Given the description of an element on the screen output the (x, y) to click on. 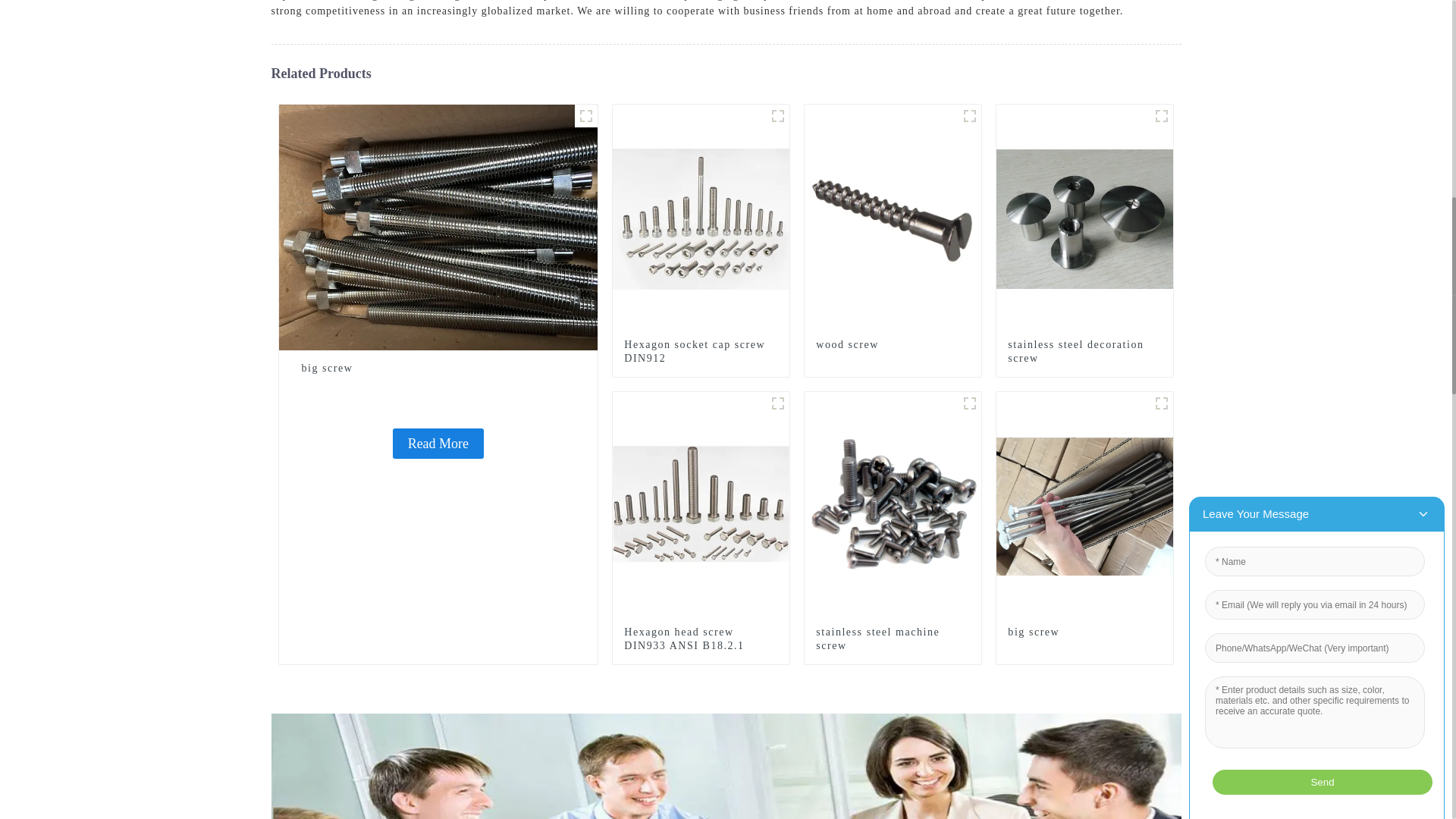
stainless steel decoration screw (1084, 351)
Hexagon socket cap screw DIN912   (700, 217)
stainless steel decoration screw (1084, 217)
big screw 3a (585, 115)
big screw (438, 443)
Hexagon head screw DIN933 ANSI B18.2.1 (700, 505)
wood screw (892, 345)
big screw (438, 225)
6-2-DIN912 ANSI B18.3  M3-M20 1-4 --3-4 (778, 115)
decoration screw (1161, 115)
wood screw (893, 217)
Hexagon socket cap screw DIN912   (700, 351)
chrome-plated-no6x1-wood-screw-10-pack-1479992949-l (969, 115)
big screw (438, 368)
6-1-DIN933 ANSI B18.2.1 M3-M33 1-4--1' (778, 403)
